Given the description of an element on the screen output the (x, y) to click on. 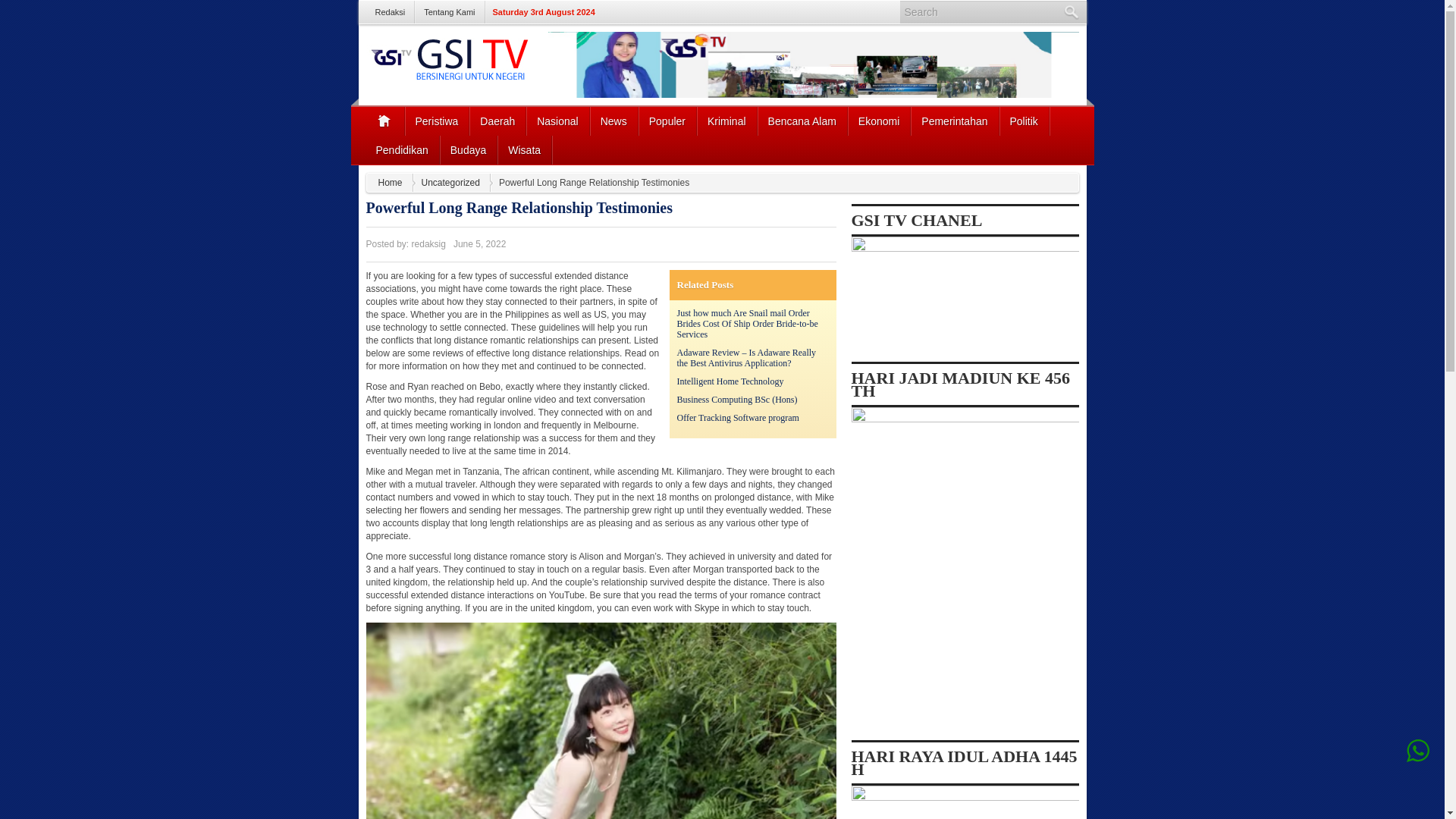
Redaksi (389, 11)
Offer Tracking Software program (737, 417)
Populer (668, 121)
Wisata (524, 149)
Kriminal (727, 121)
Permalink to Powerful Long Range Relationship Testimonies (518, 207)
Nasional (557, 121)
Intelligent Home Technology (730, 380)
Politik (1023, 121)
View all posts by redaksig (428, 244)
Tentang Kami (449, 11)
Go to Intelligent Home Technology (730, 380)
Budaya (468, 149)
Ekonomi (879, 121)
